Given the description of an element on the screen output the (x, y) to click on. 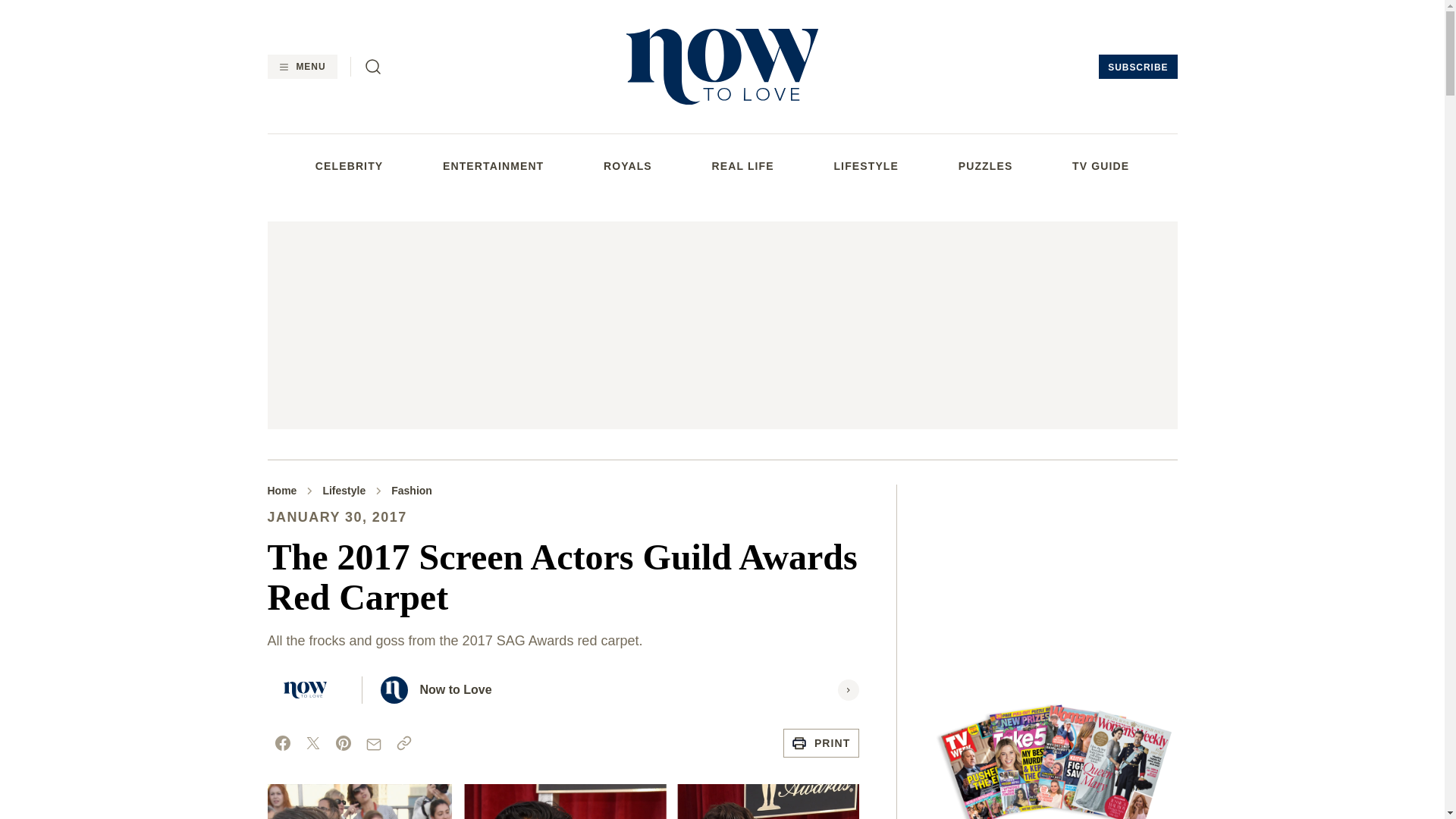
CELEBRITY (348, 165)
SUBSCRIBE (1137, 66)
ROYALS (628, 165)
ENTERTAINMENT (492, 165)
MENU (301, 66)
LIFESTYLE (865, 165)
REAL LIFE (742, 165)
PUZZLES (985, 165)
TV GUIDE (1100, 165)
